Given the description of an element on the screen output the (x, y) to click on. 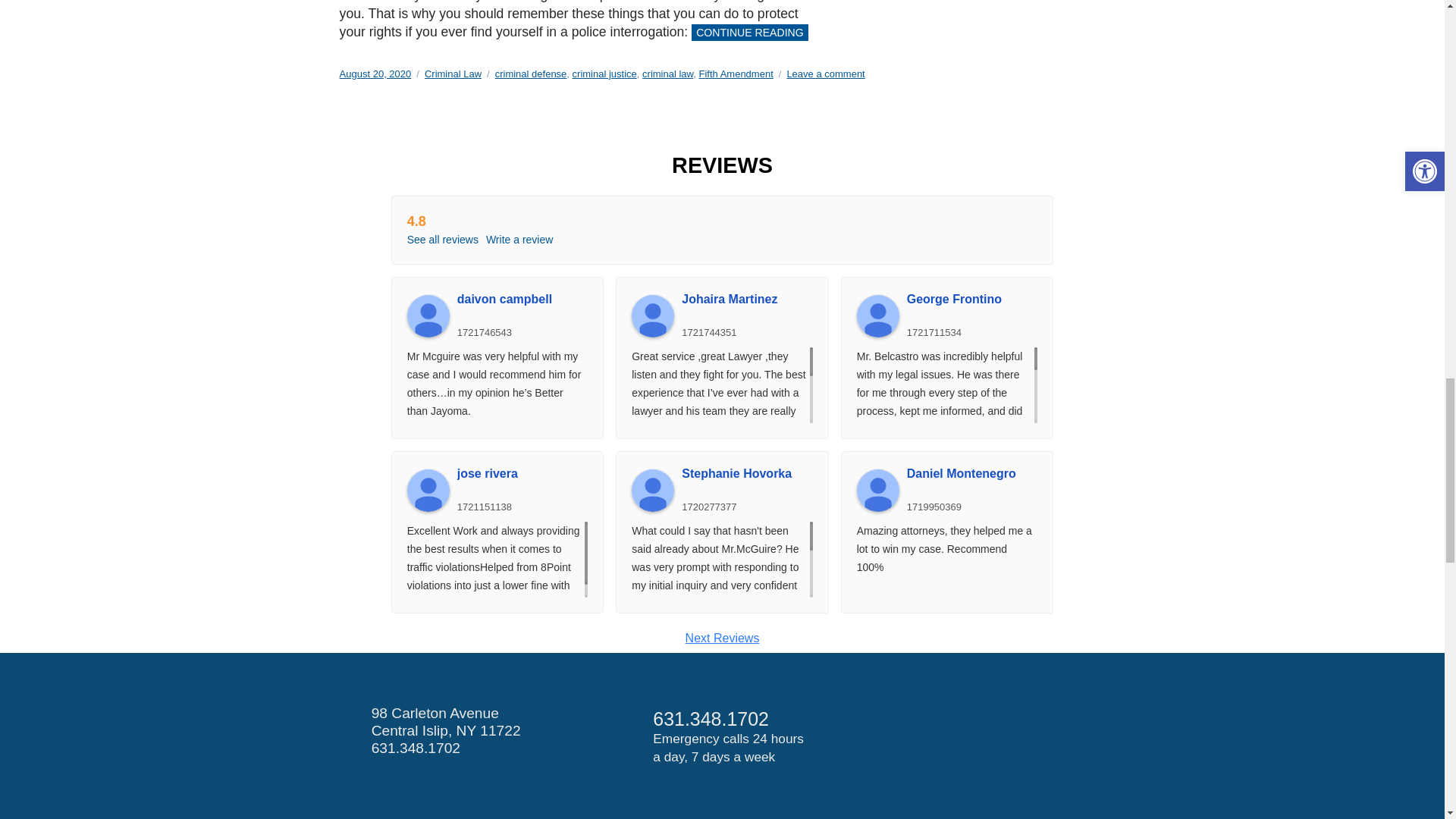
Daniel Montenegro (971, 473)
jose rivera (428, 490)
Johaira Martinez (746, 299)
jose rivera (522, 473)
Stephanie Hovorka (746, 473)
Daniel Montenegro (878, 490)
Stephanie Hovorka (652, 490)
Johaira Martinez (652, 315)
George Frontino (878, 315)
George Frontino (971, 299)
daivon campbell (428, 315)
daivon campbell (522, 299)
